Given the description of an element on the screen output the (x, y) to click on. 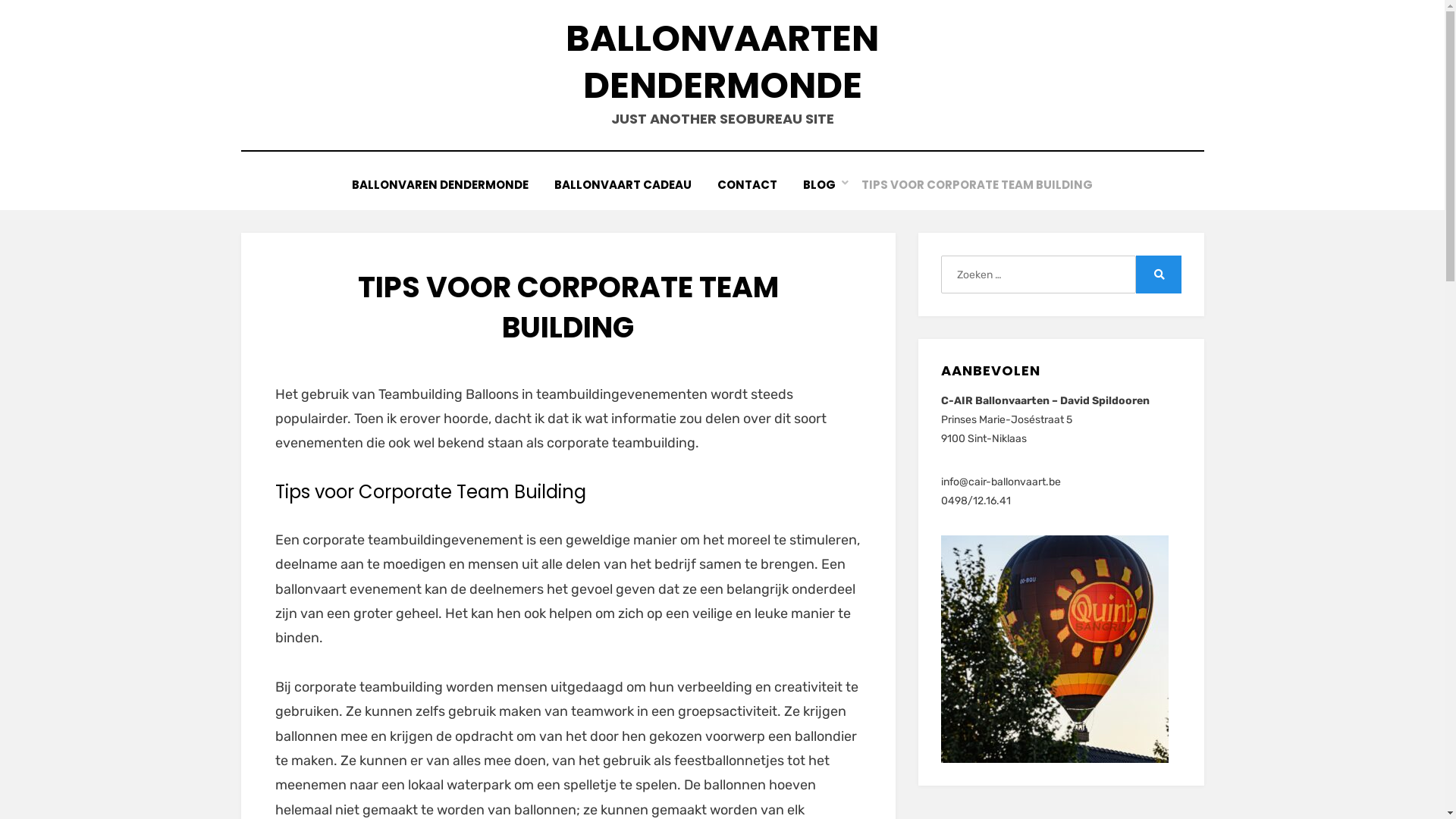
BALLONVAARTEN DENDERMONDE Element type: text (721, 61)
Zoeken Element type: text (1158, 274)
Zoeken naar: Element type: hover (1038, 274)
CONTACT Element type: text (747, 184)
TIPS VOOR CORPORATE TEAM BUILDING Element type: text (976, 184)
BLOG Element type: text (819, 184)
BALLONVAART CADEAU Element type: text (622, 184)
0498/12.16.41 Element type: text (975, 500)
info@cair-ballonvaart.be Element type: text (1000, 481)
BALLONVAREN DENDERMONDE Element type: text (439, 184)
